Given the description of an element on the screen output the (x, y) to click on. 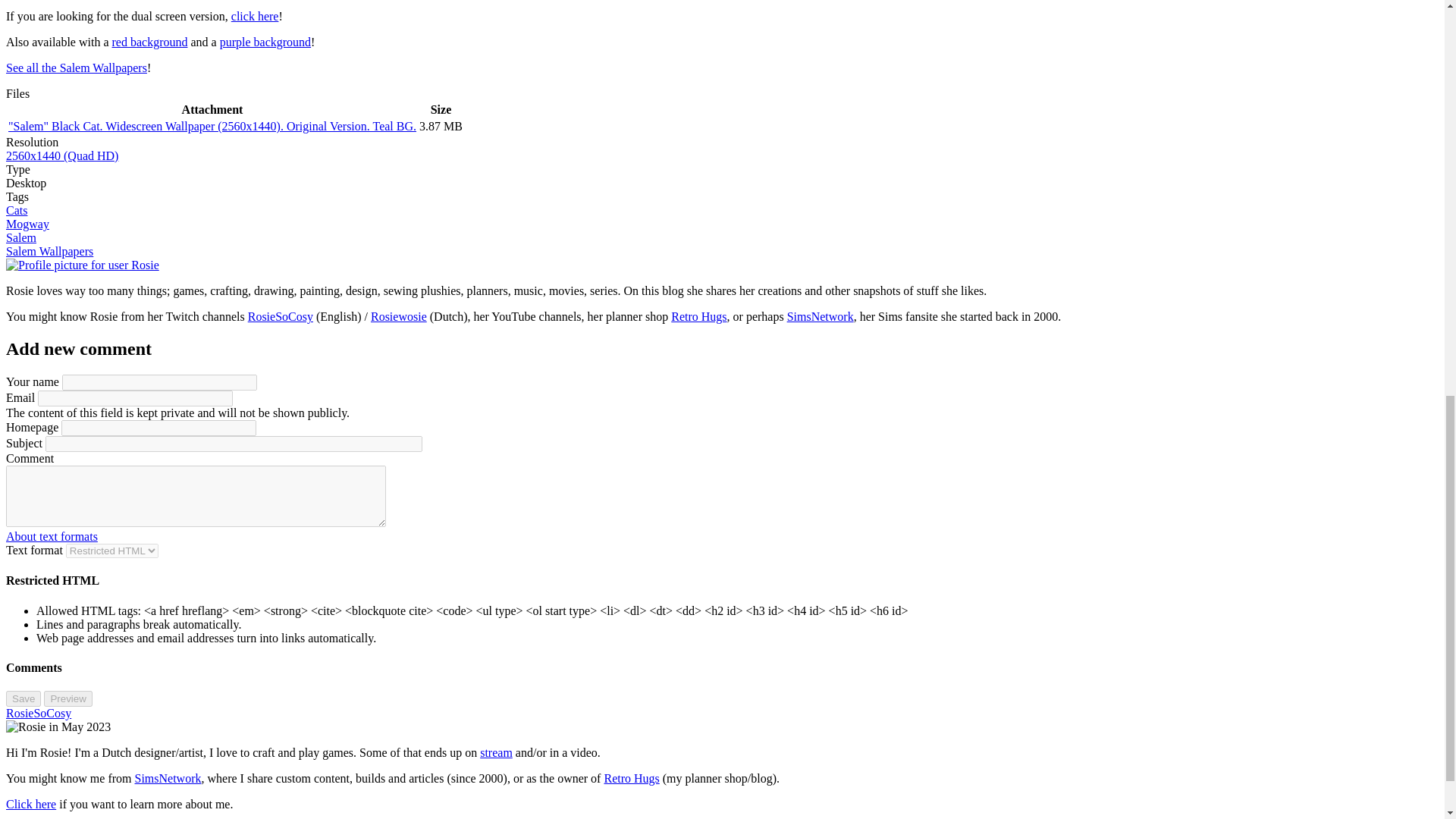
Preview (67, 698)
Save (22, 698)
red background (149, 42)
click here (255, 15)
wallpaper-salem-original-wide-teal.zip (212, 125)
purple background (265, 42)
